Given the description of an element on the screen output the (x, y) to click on. 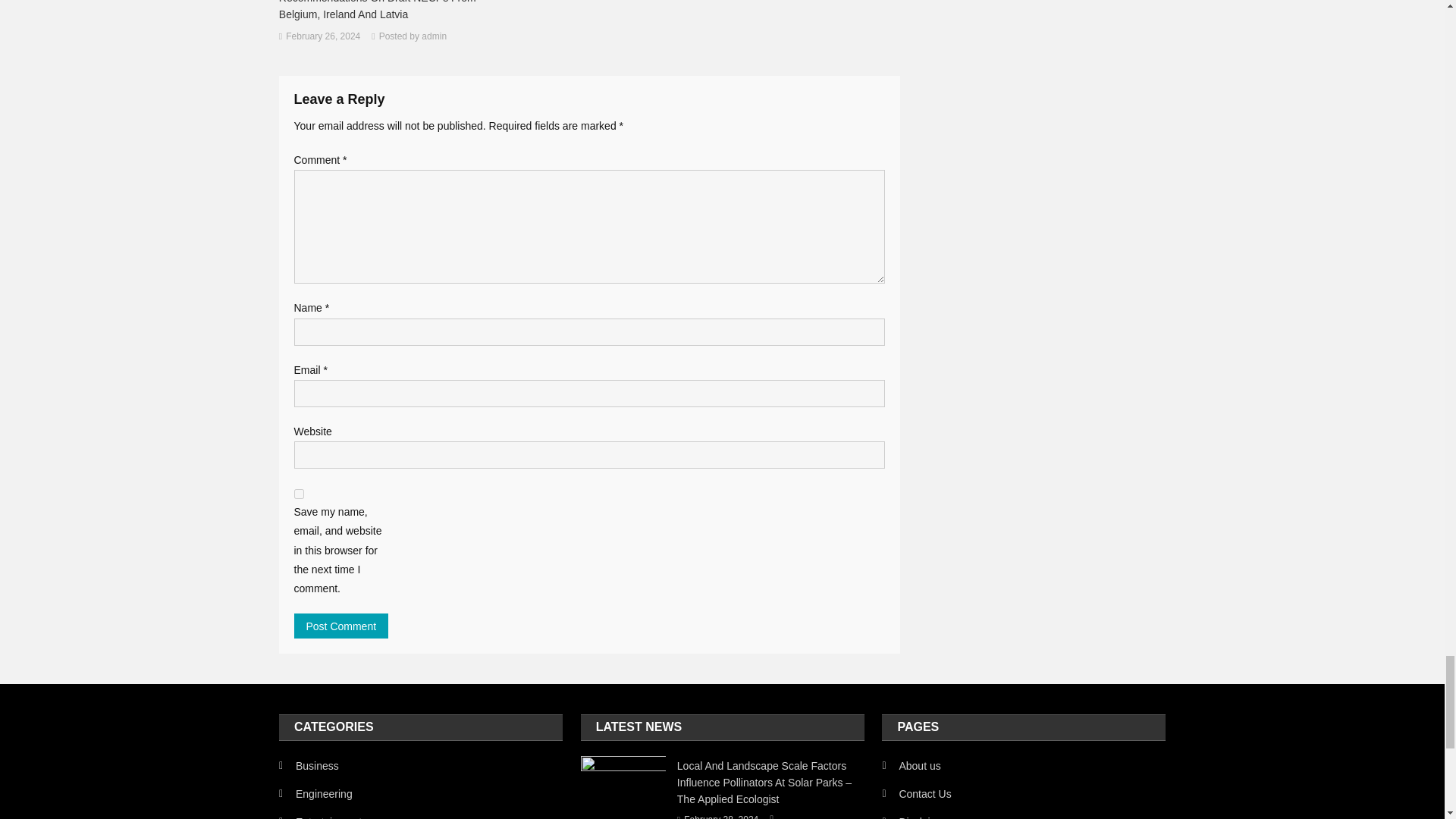
yes (299, 493)
Post Comment (341, 625)
